Given the description of an element on the screen output the (x, y) to click on. 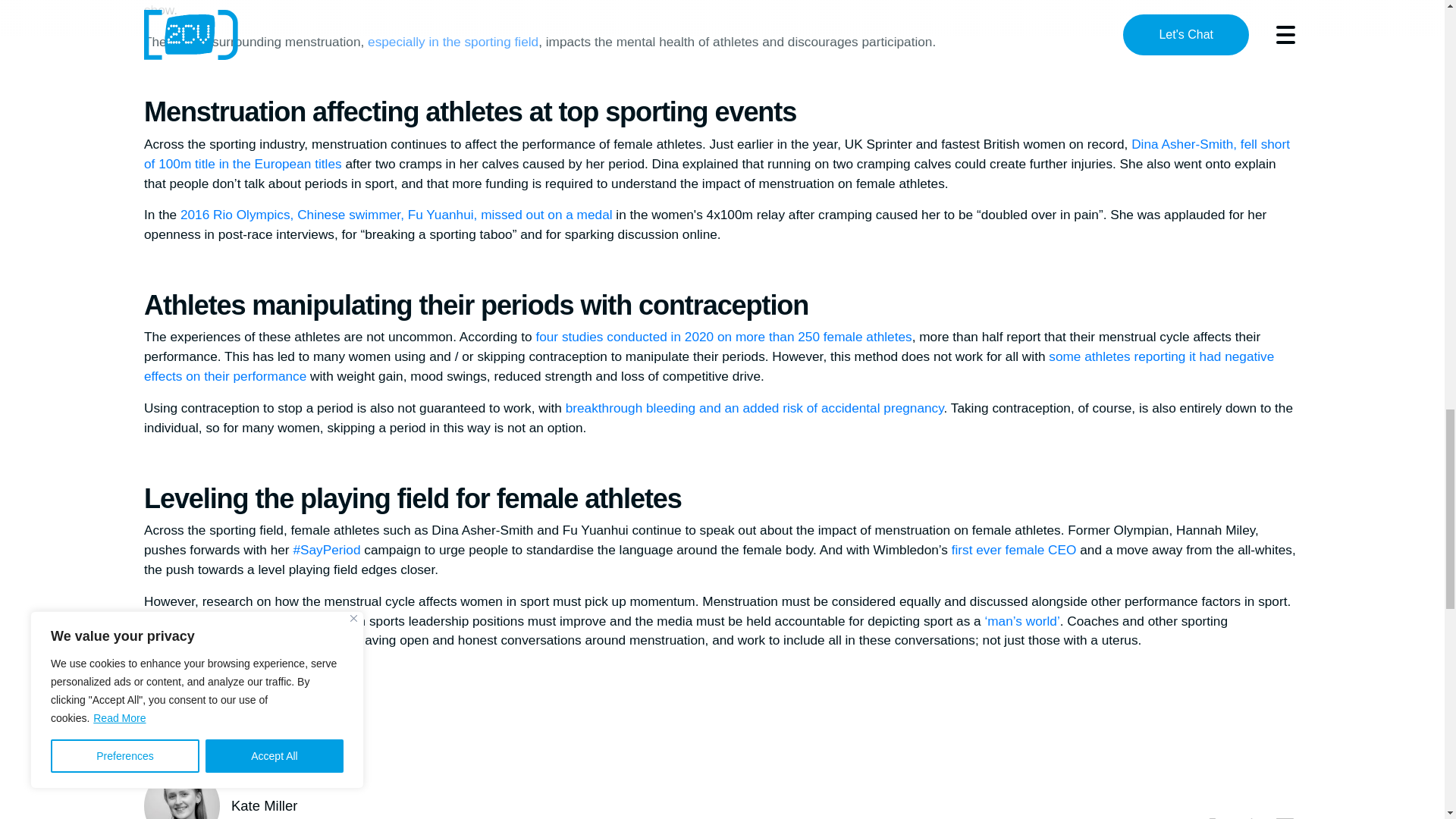
Twitter (1246, 816)
Facebook (1208, 816)
Linkedin (1284, 816)
